Given the description of an element on the screen output the (x, y) to click on. 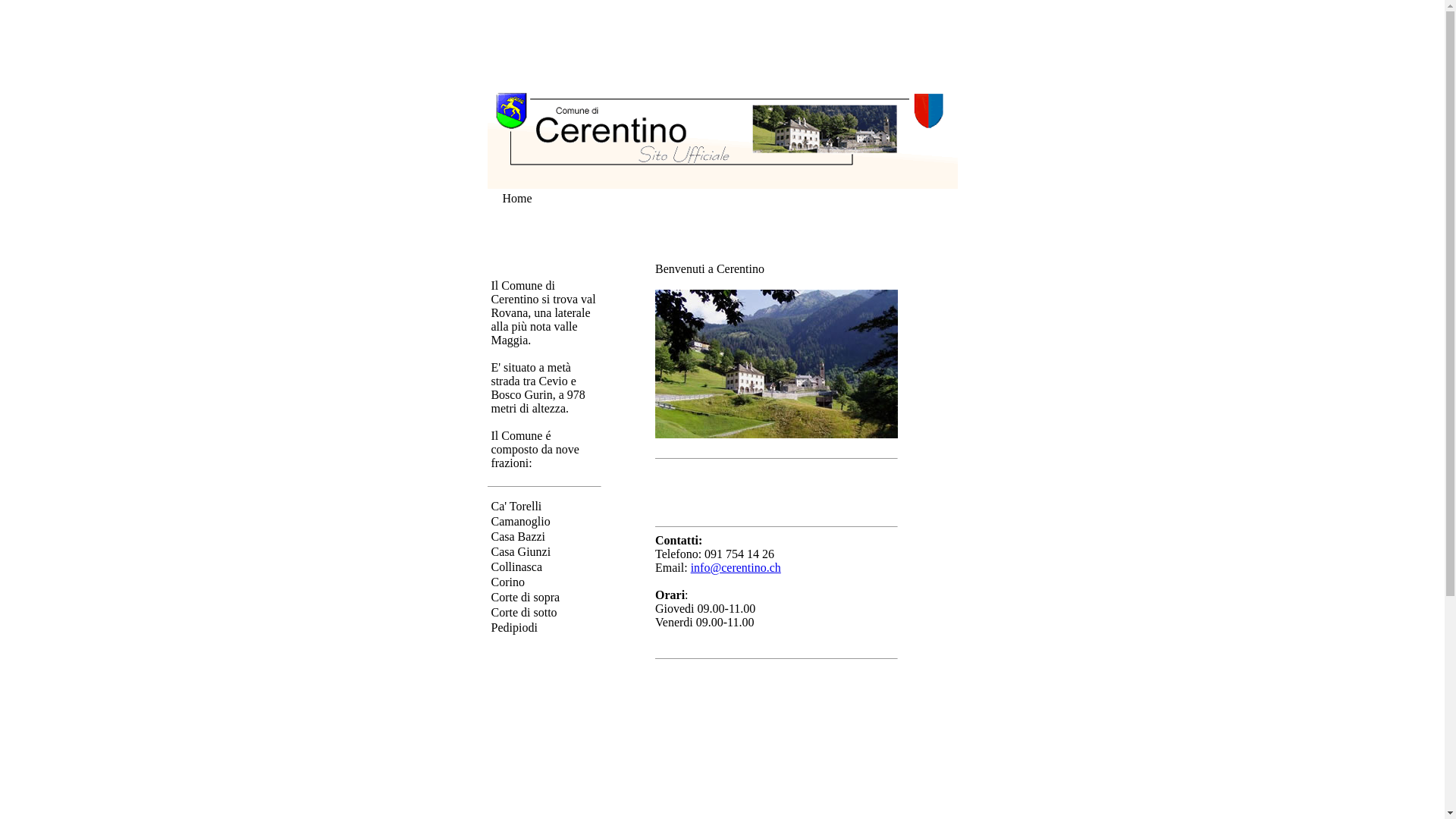
info@cerentino.ch Element type: text (735, 567)
